Given the description of an element on the screen output the (x, y) to click on. 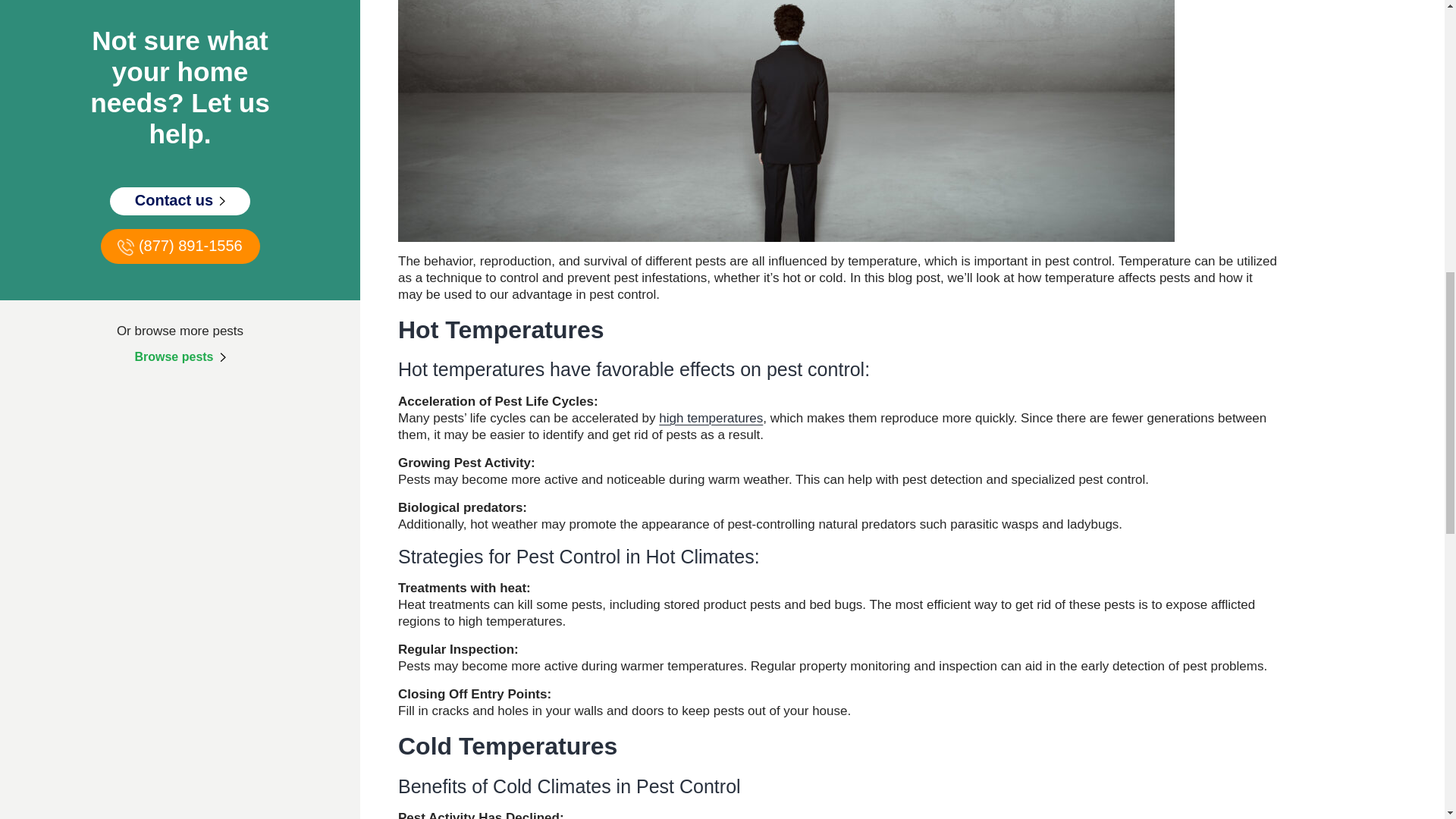
high temperatures (710, 418)
Browse pests (179, 356)
Contact us (180, 201)
